Given the description of an element on the screen output the (x, y) to click on. 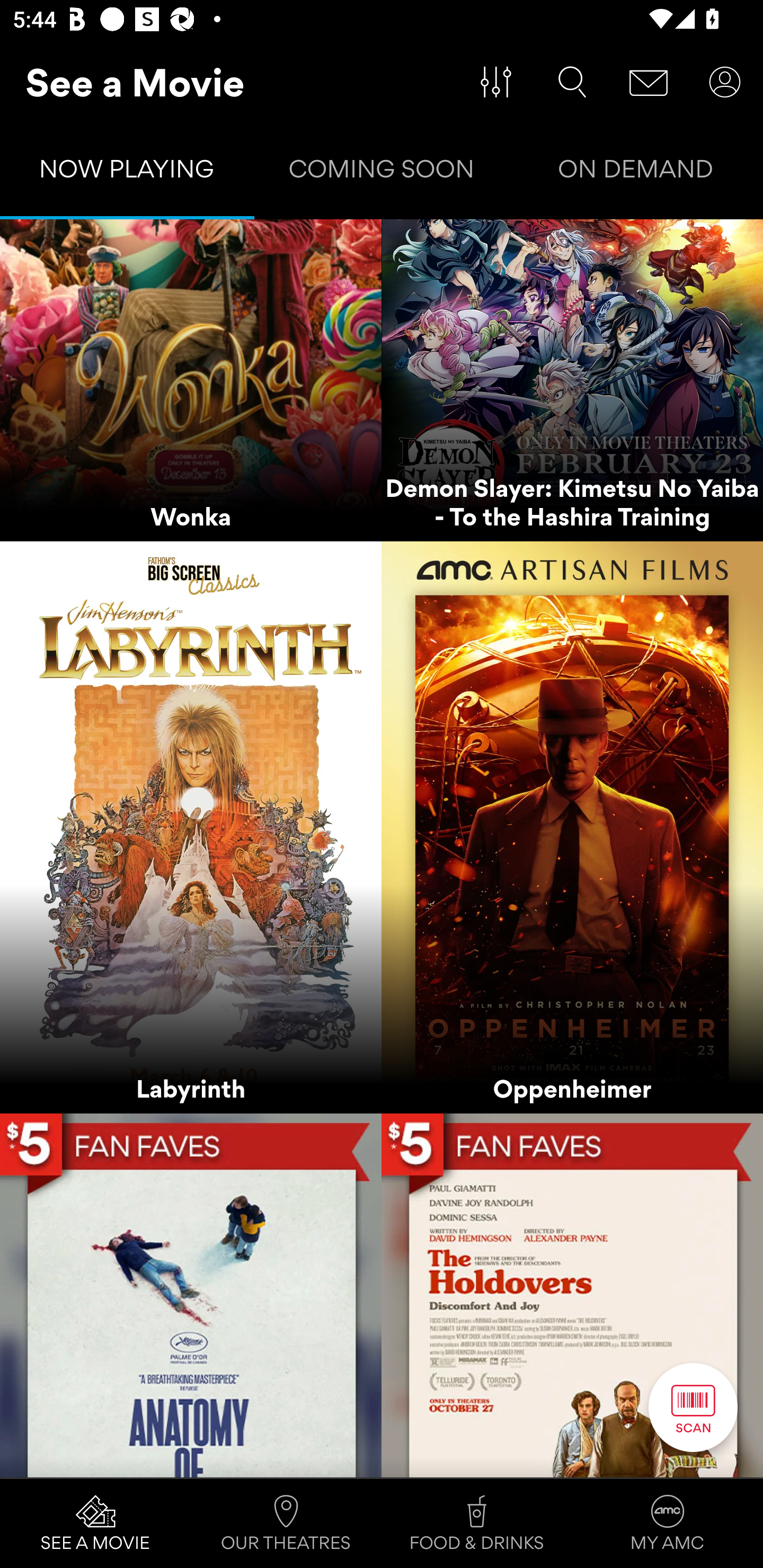
Filter Movies (495, 82)
Search (572, 82)
Message Center (648, 82)
User Account (724, 82)
NOW PLAYING
Tab 1 of 3 (127, 173)
COMING SOON
Tab 2 of 3 (381, 173)
ON DEMAND
Tab 3 of 3 (635, 173)
Wonka (190, 379)
Labyrinth (190, 826)
Oppenheimer (572, 826)
Anatomy of a Fall (190, 1295)
The Holdovers (572, 1295)
Scan Button (692, 1406)
SEE A MOVIE
Tab 1 of 4 (95, 1523)
OUR THEATRES
Tab 2 of 4 (285, 1523)
FOOD & DRINKS
Tab 3 of 4 (476, 1523)
MY AMC
Tab 4 of 4 (667, 1523)
